Given the description of an element on the screen output the (x, y) to click on. 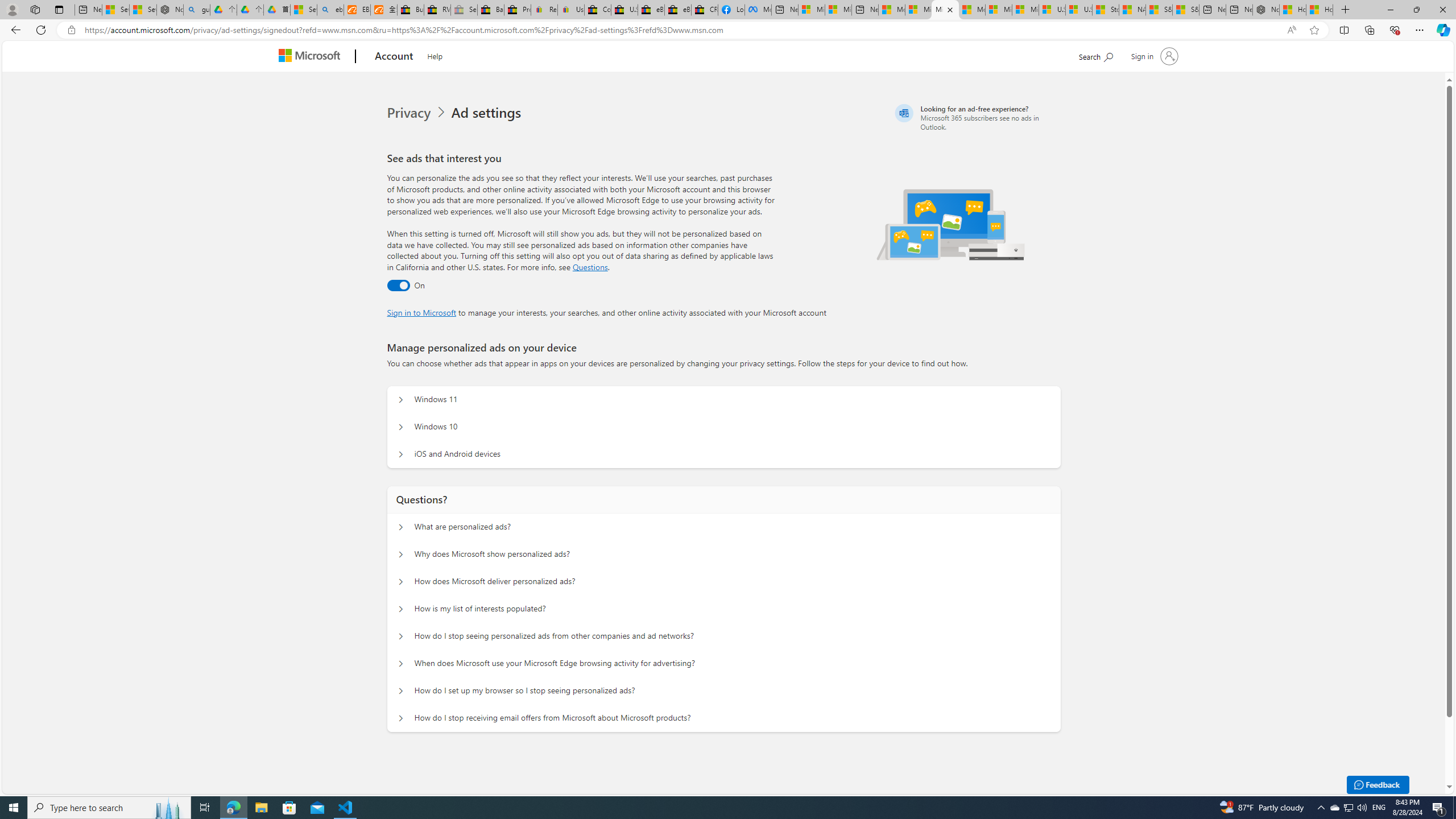
Manage personalized ads on your device Windows 11 (401, 400)
Questions? How is my list of interests populated? (401, 608)
Microsoft account | Privacy (945, 9)
Sign in to Microsoft (422, 311)
U.S. State Privacy Disclosures - eBay Inc. (623, 9)
Microsoft (311, 56)
